Given the description of an element on the screen output the (x, y) to click on. 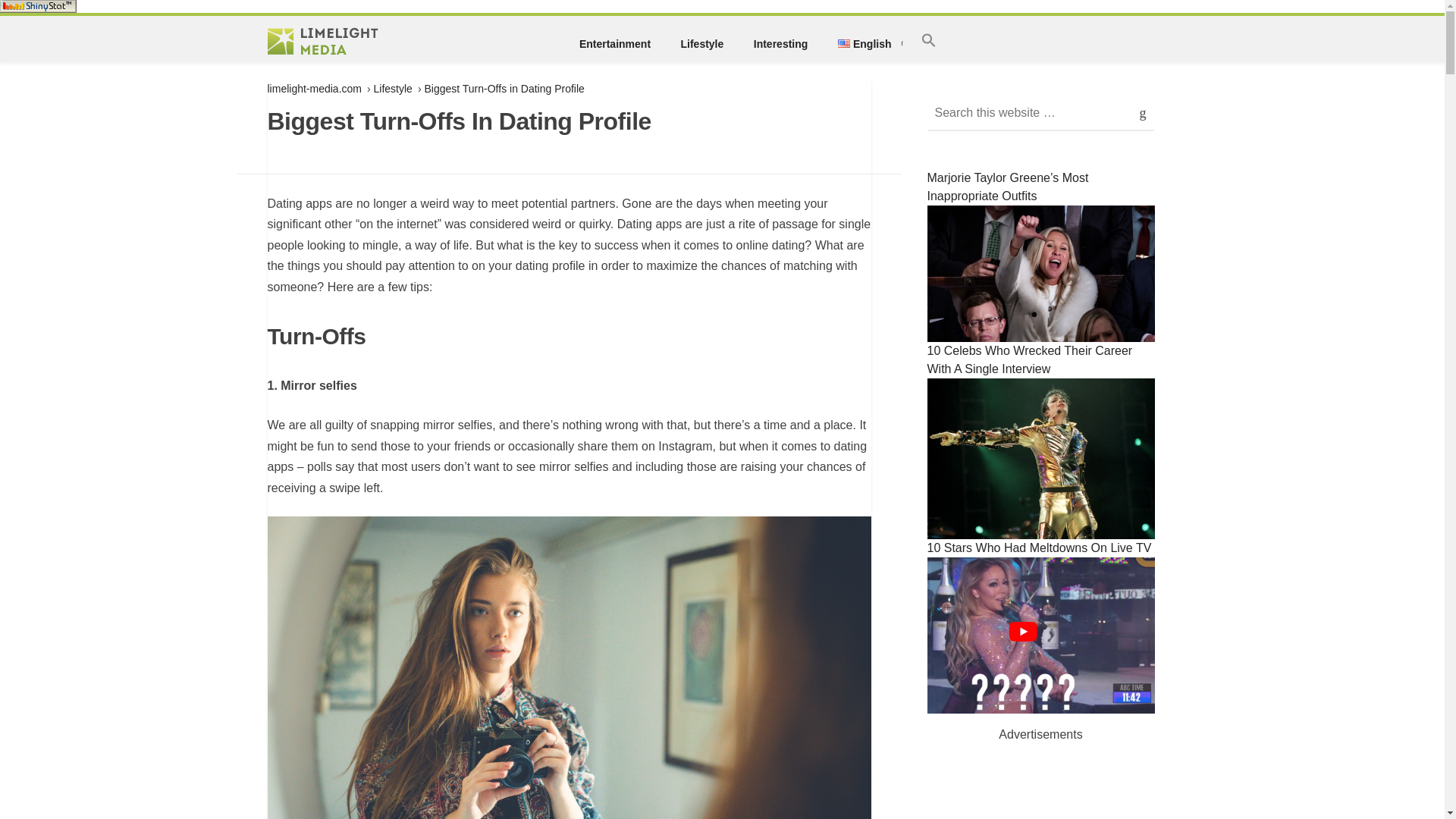
Lifestyle (701, 44)
Lifestyle (393, 88)
Interesting (780, 44)
10 Stars Who Had Meltdowns On Live TV (1040, 628)
Entertainment (614, 44)
Advertisement (1040, 790)
Biggest Turn-Offs in Dating Profile (503, 88)
limelight-media.com (313, 88)
10 Celebs Who Wrecked Their Career With A Single Interview (1040, 442)
English (864, 44)
